Given the description of an element on the screen output the (x, y) to click on. 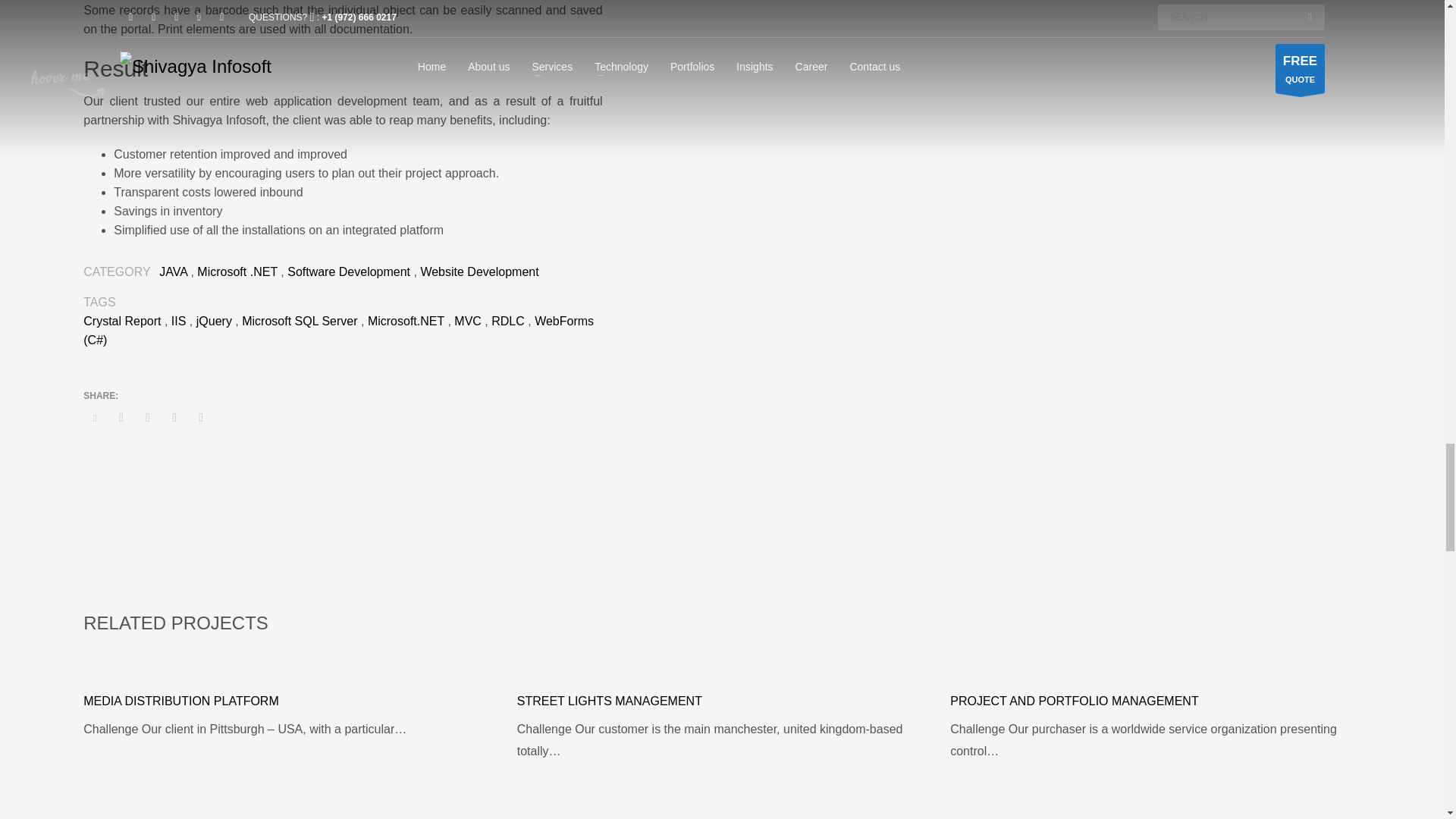
SHARE ON TWITTER (94, 418)
SHARE ON PINTEREST (174, 417)
SHARE ON GPLUS (147, 417)
SHARE ON FACEBOOK (121, 417)
SHARE ON MAIL (200, 417)
